Given the description of an element on the screen output the (x, y) to click on. 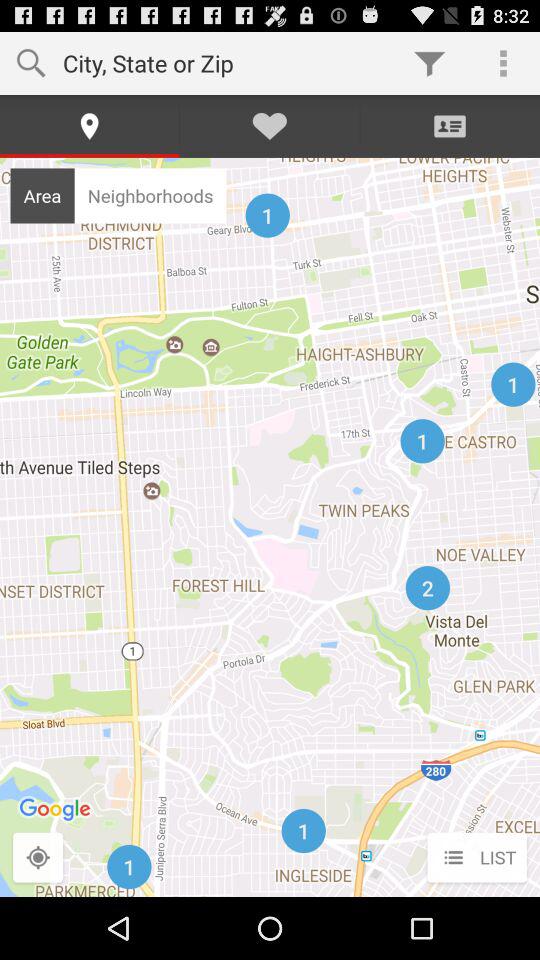
select the icon to the left of the list icon (37, 858)
